Given the description of an element on the screen output the (x, y) to click on. 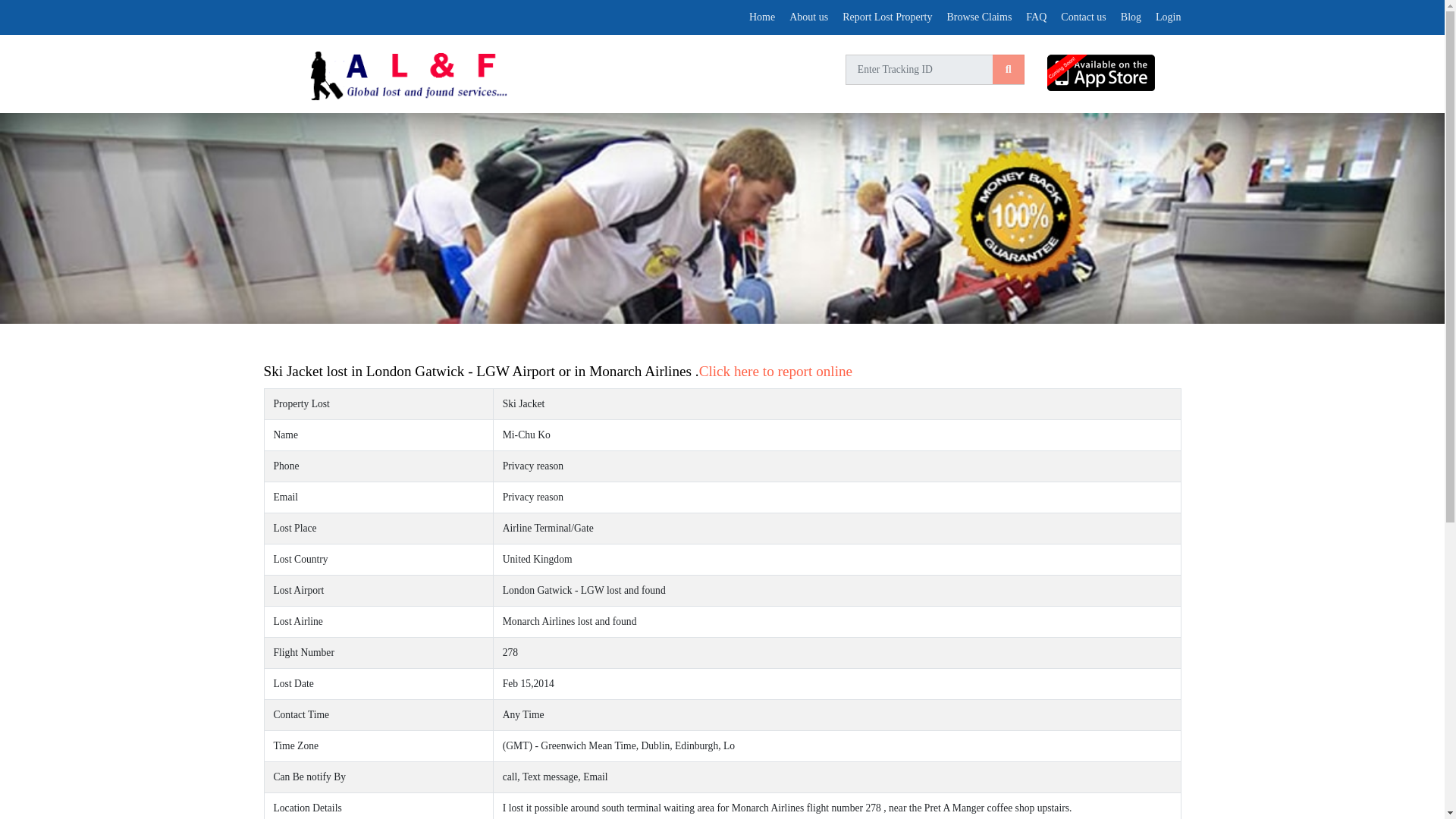
Report Lost Property (887, 17)
Click here to report online (774, 371)
App Store (1113, 72)
Browse Claims (978, 17)
About us (808, 17)
Contact us (1083, 17)
